Given the description of an element on the screen output the (x, y) to click on. 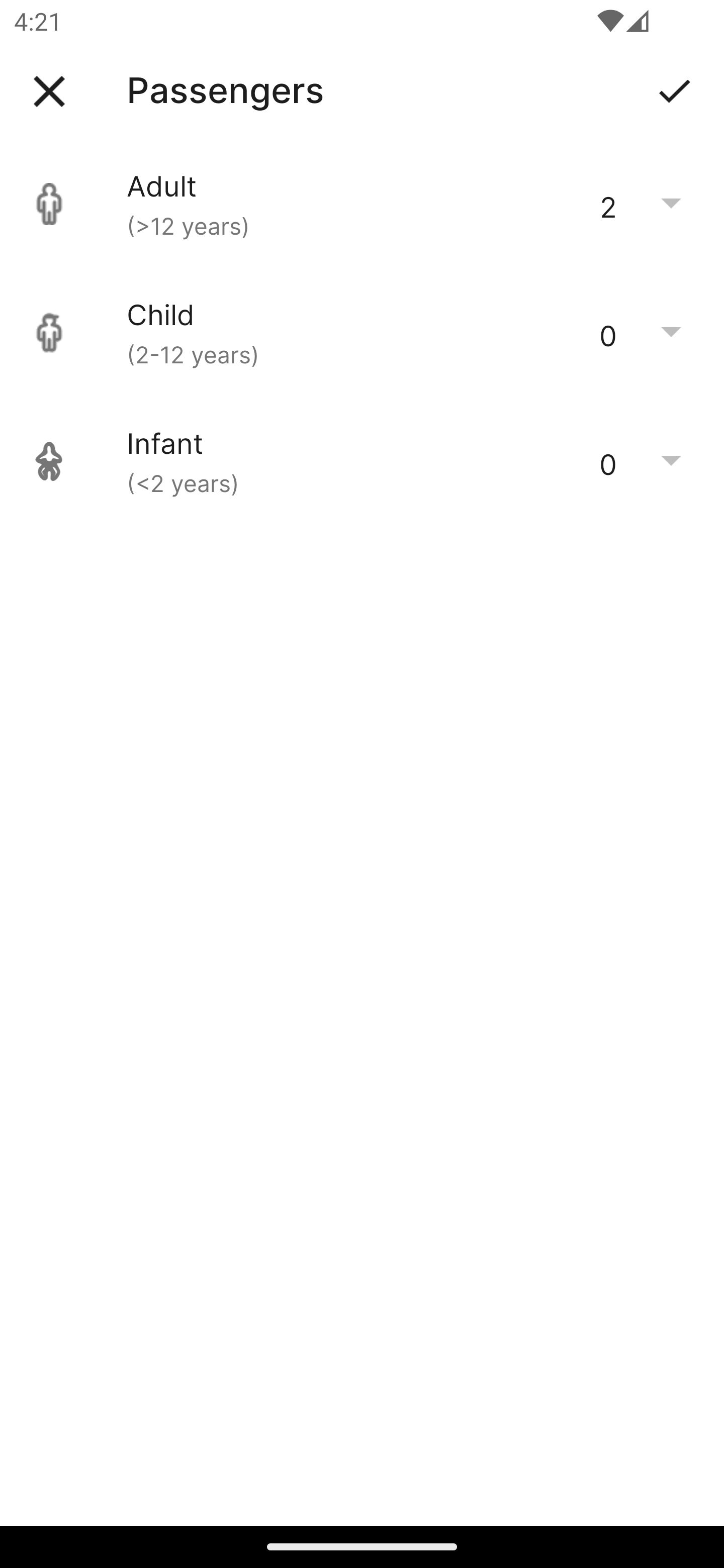
Adult (>12 years) 2 (362, 204)
Child (2-12 years) 0 (362, 332)
Infant (<2 years) 0 (362, 461)
